Given the description of an element on the screen output the (x, y) to click on. 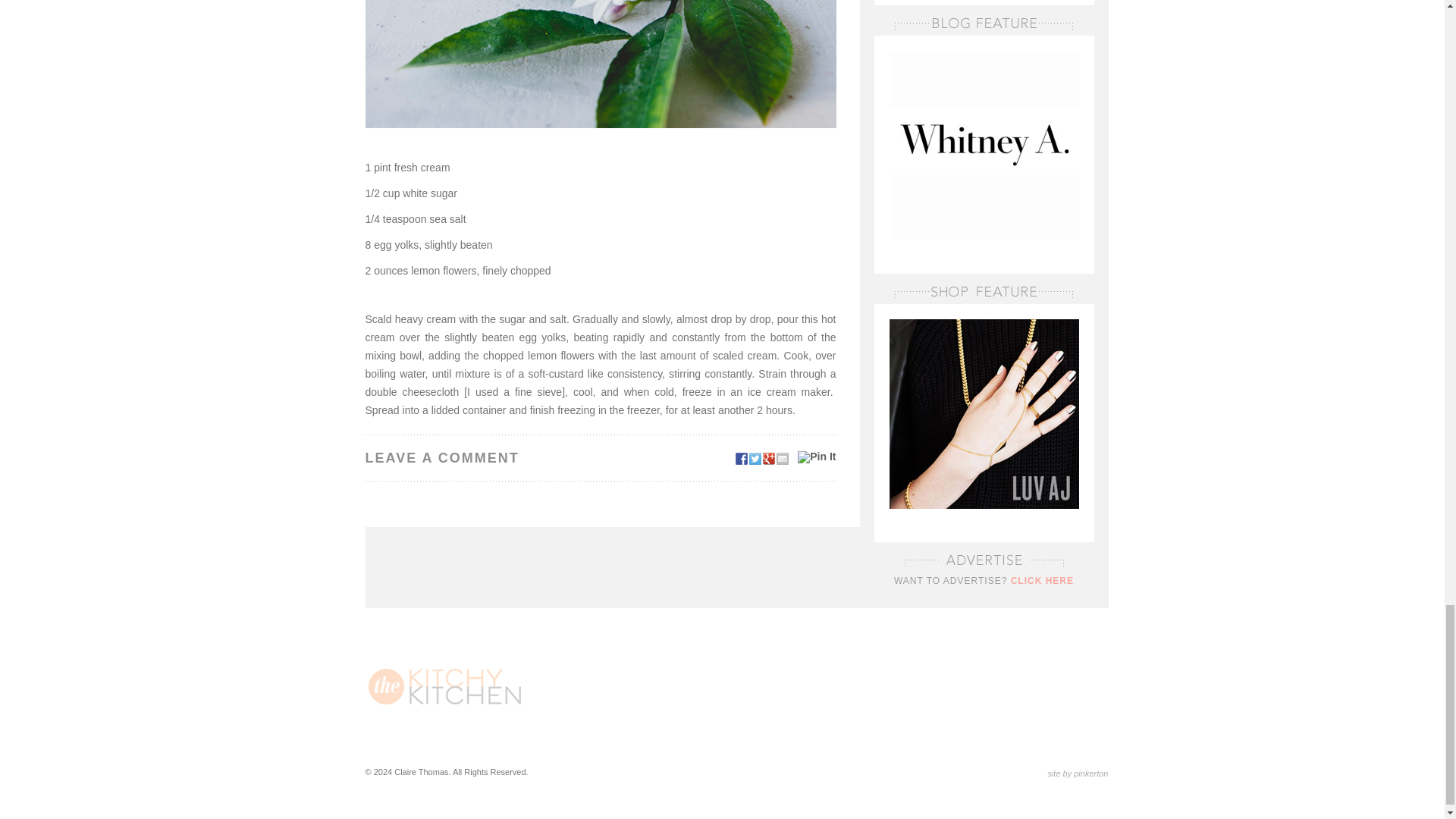
Share on Facebook (741, 458)
LEAVE A COMMENT (600, 457)
Share on Twitter (755, 458)
Share by email (782, 458)
